Given the description of an element on the screen output the (x, y) to click on. 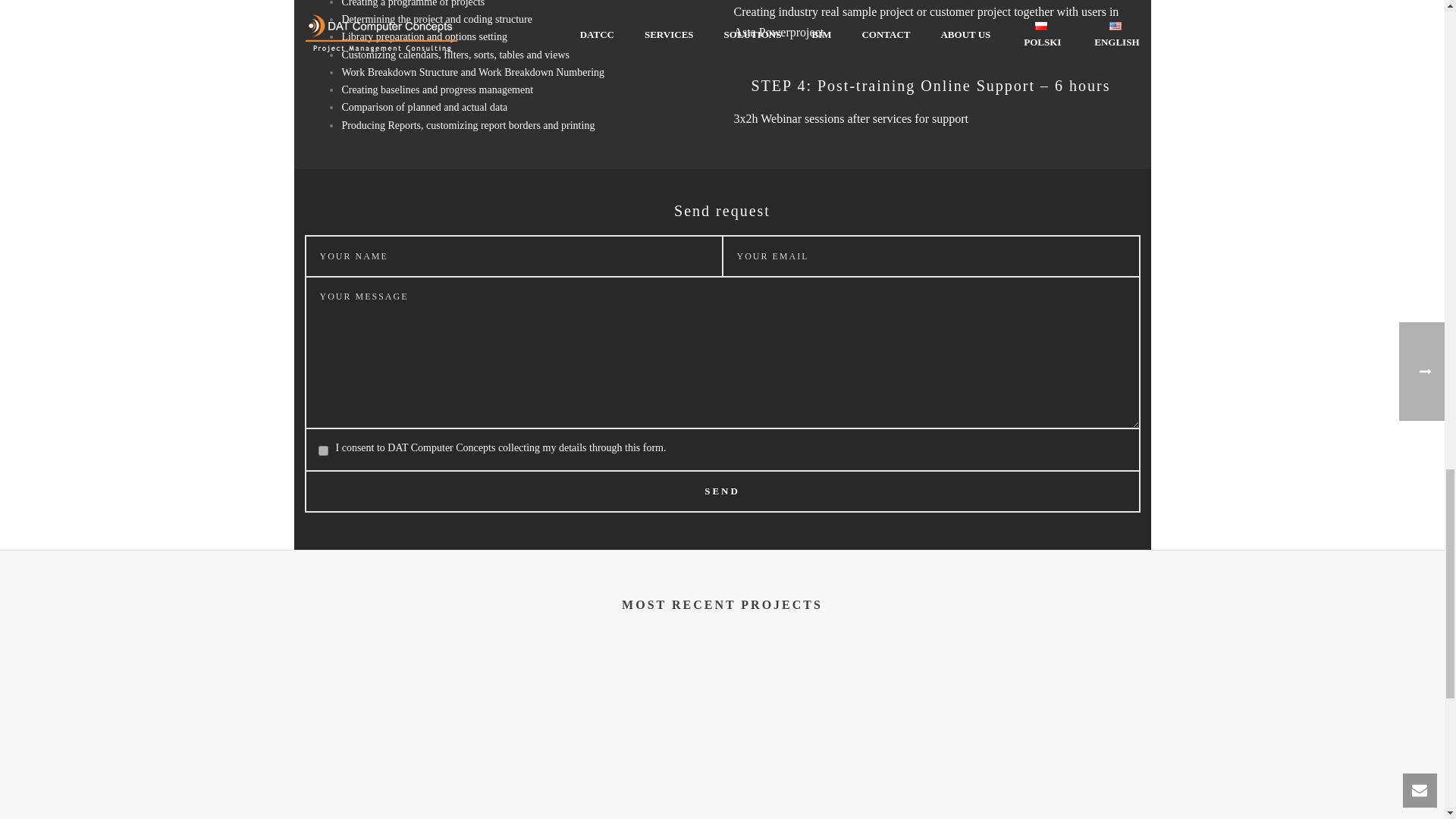
Advanced Project Management (829, 735)
Asta Powerproject BIM (397, 735)
Risk Management (1046, 735)
Project Team Management (614, 735)
